Given the description of an element on the screen output the (x, y) to click on. 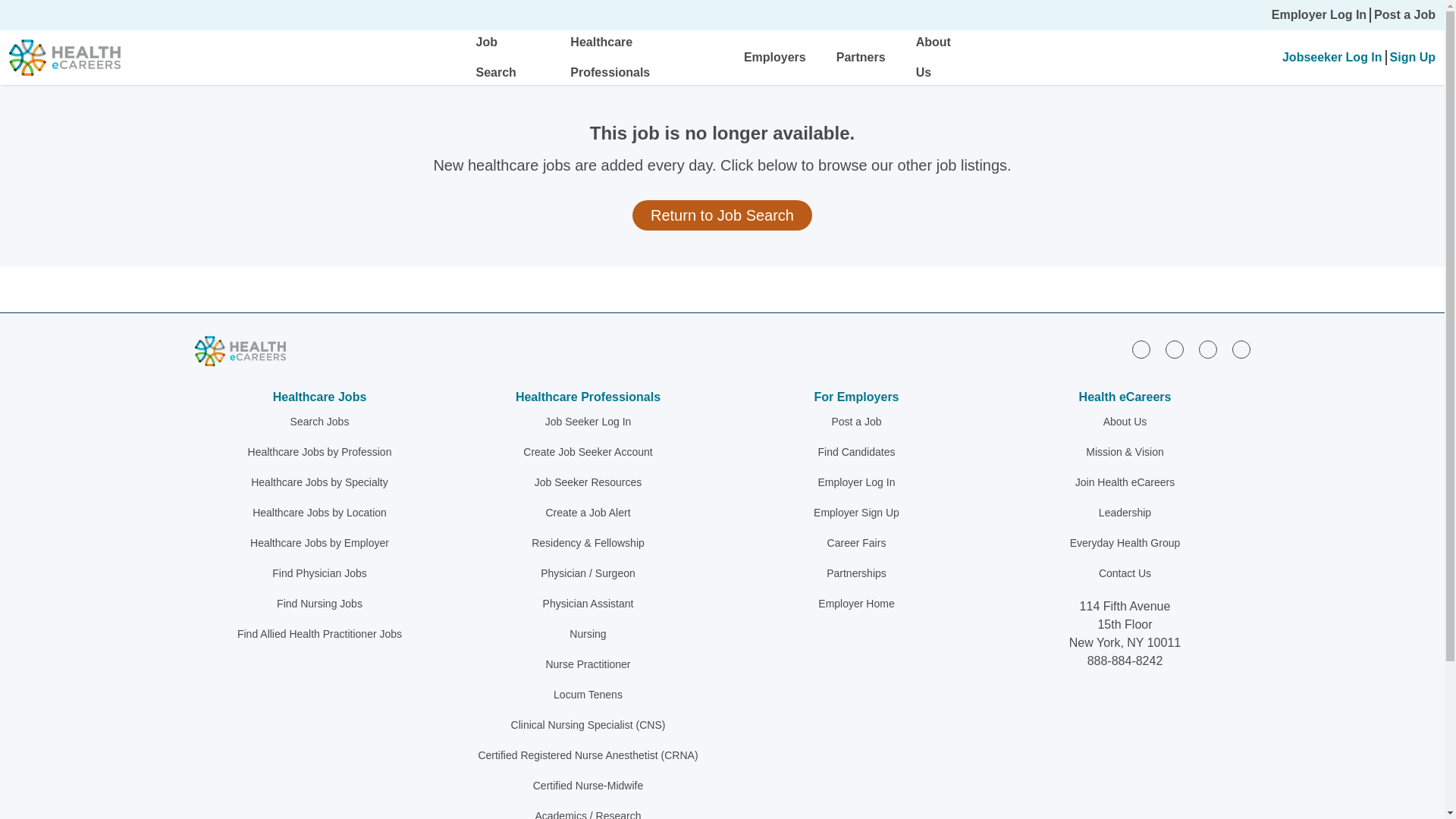
Employer Log In (1319, 14)
Job Search (496, 57)
twitter (1206, 349)
Post a Job (1404, 14)
Healthcare Professionals (609, 57)
youtube (1240, 349)
Employers (775, 56)
facebook (1173, 349)
linkedin (1140, 349)
